Given the description of an element on the screen output the (x, y) to click on. 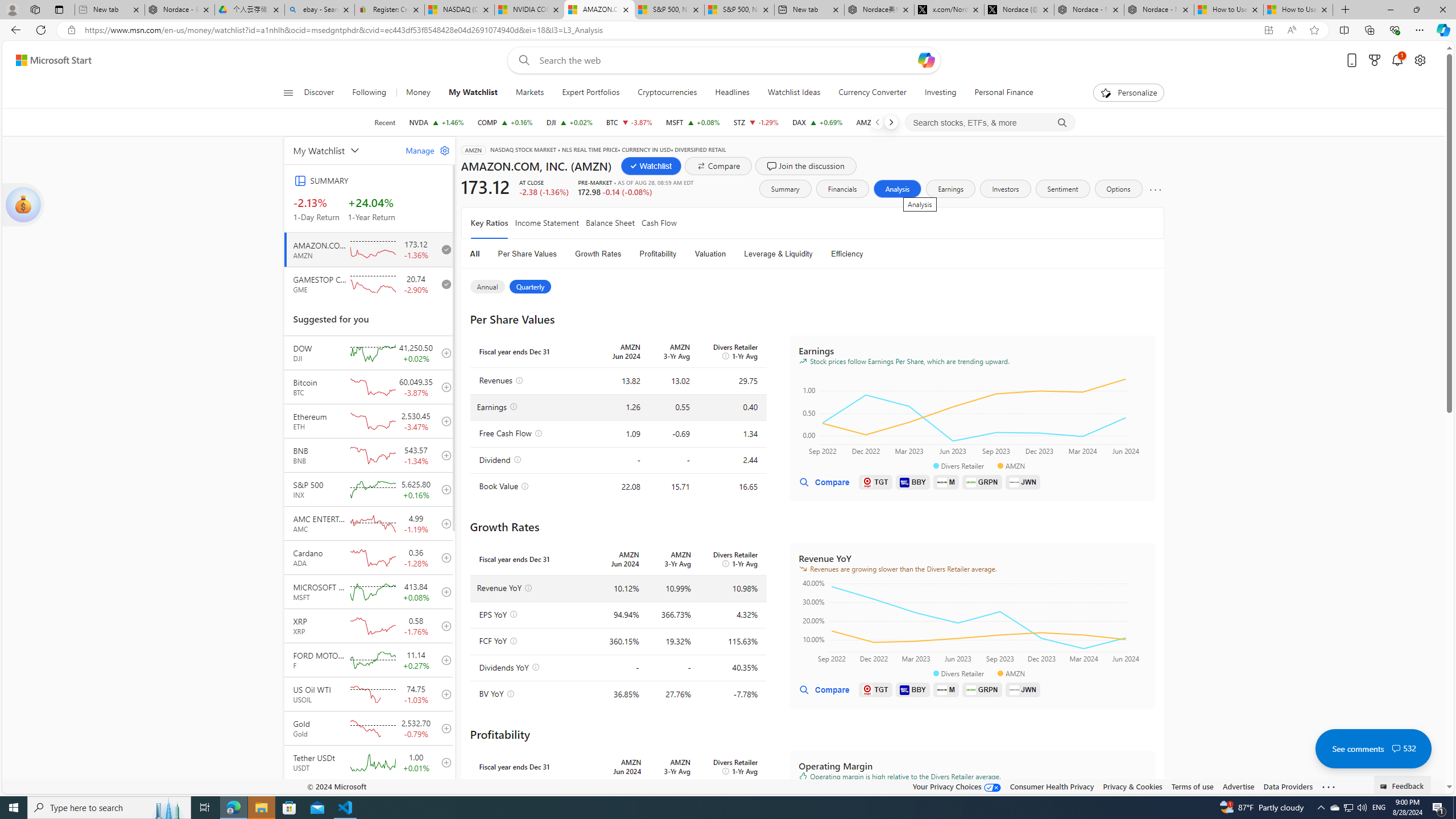
AMZN AMAZON.COM, INC. decrease 173.12 -2.38 -1.36% (882, 122)
Your Privacy Choices (956, 785)
Compare (823, 689)
Class: button-glyph (287, 92)
Summary (784, 188)
Your Privacy Choices (956, 786)
STZ CONSTELLATION BRANDS, INC. decrease 239.98 -3.13 -1.29% (756, 122)
Expert Portfolios (590, 92)
S&P 500, Nasdaq end lower, weighed by Nvidia dip | Watch (738, 9)
Previous (876, 122)
Microsoft Start (53, 60)
Options (1118, 188)
Quarterly (530, 286)
Income Statement (547, 223)
